Given the description of an element on the screen output the (x, y) to click on. 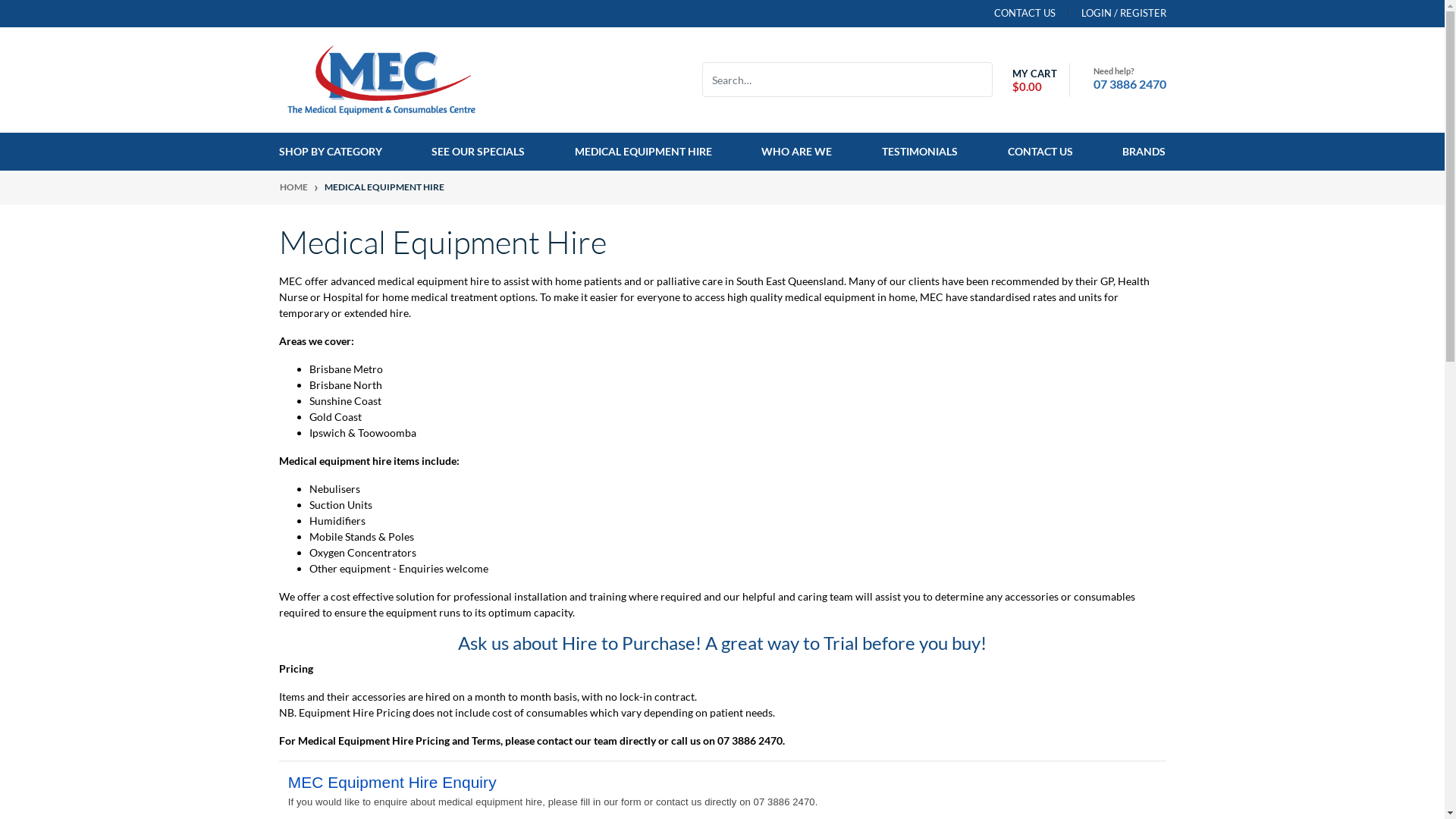
MY CART
$0.00 Element type: text (1030, 79)
LOGIN / REGISTER Element type: text (1110, 13)
HOME Element type: text (293, 187)
TESTIMONIALS Element type: text (919, 151)
SHOP BY CATEGORY Element type: text (336, 151)
The Medical Equipment Centre Element type: hover (381, 78)
MEDICAL EQUIPMENT HIRE Element type: text (643, 151)
MEDICAL EQUIPMENT HIRE Element type: text (384, 187)
SEE OUR SPECIALS Element type: text (477, 151)
CONTACT US Element type: text (1040, 151)
CONTACT US Element type: text (1023, 13)
07 3886 2470 Element type: text (1129, 83)
Search Element type: text (982, 79)
WHO ARE WE Element type: text (796, 151)
BRANDS Element type: text (1137, 151)
